Given the description of an element on the screen output the (x, y) to click on. 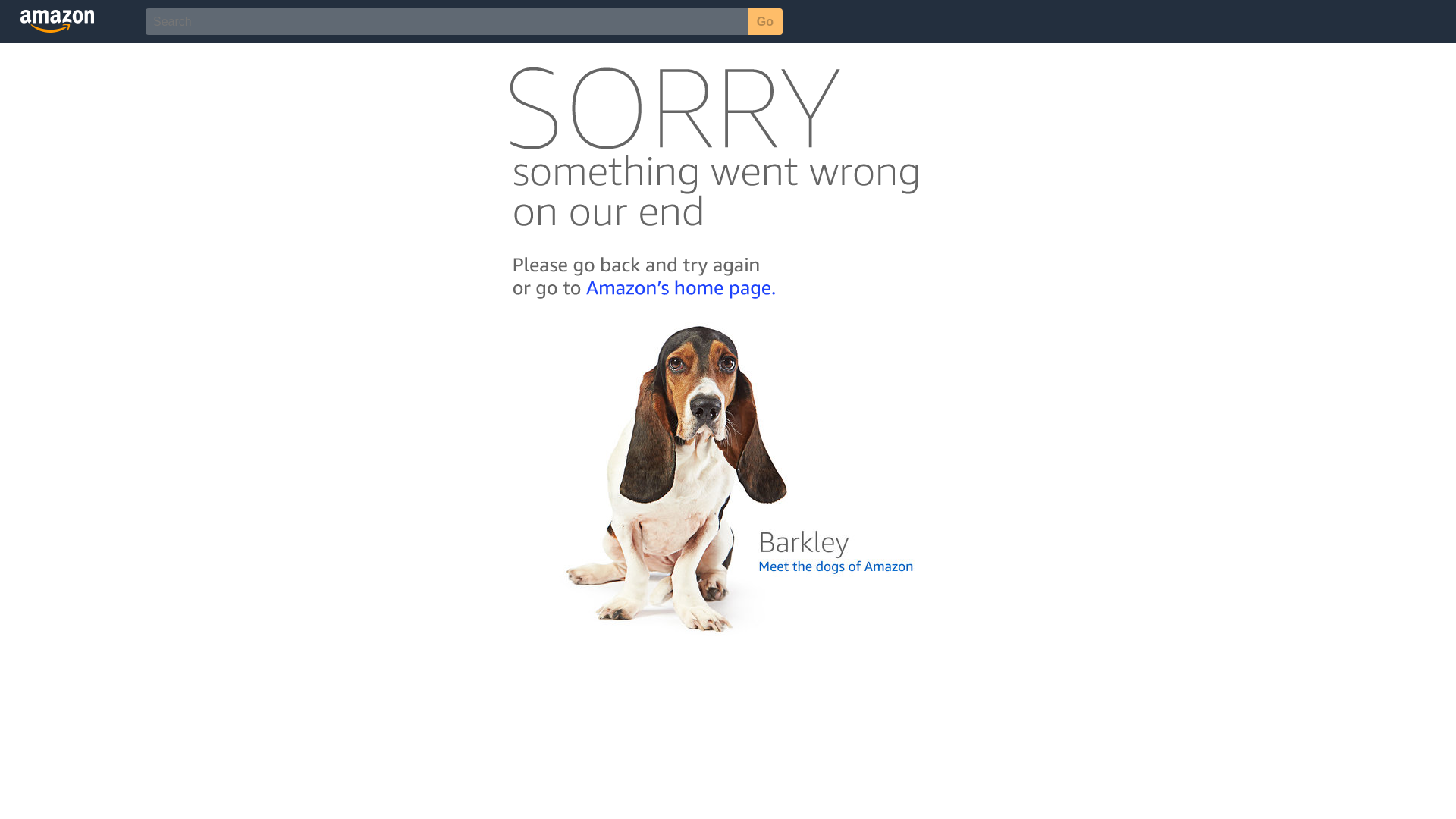
Go (765, 21)
Go (765, 21)
